Given the description of an element on the screen output the (x, y) to click on. 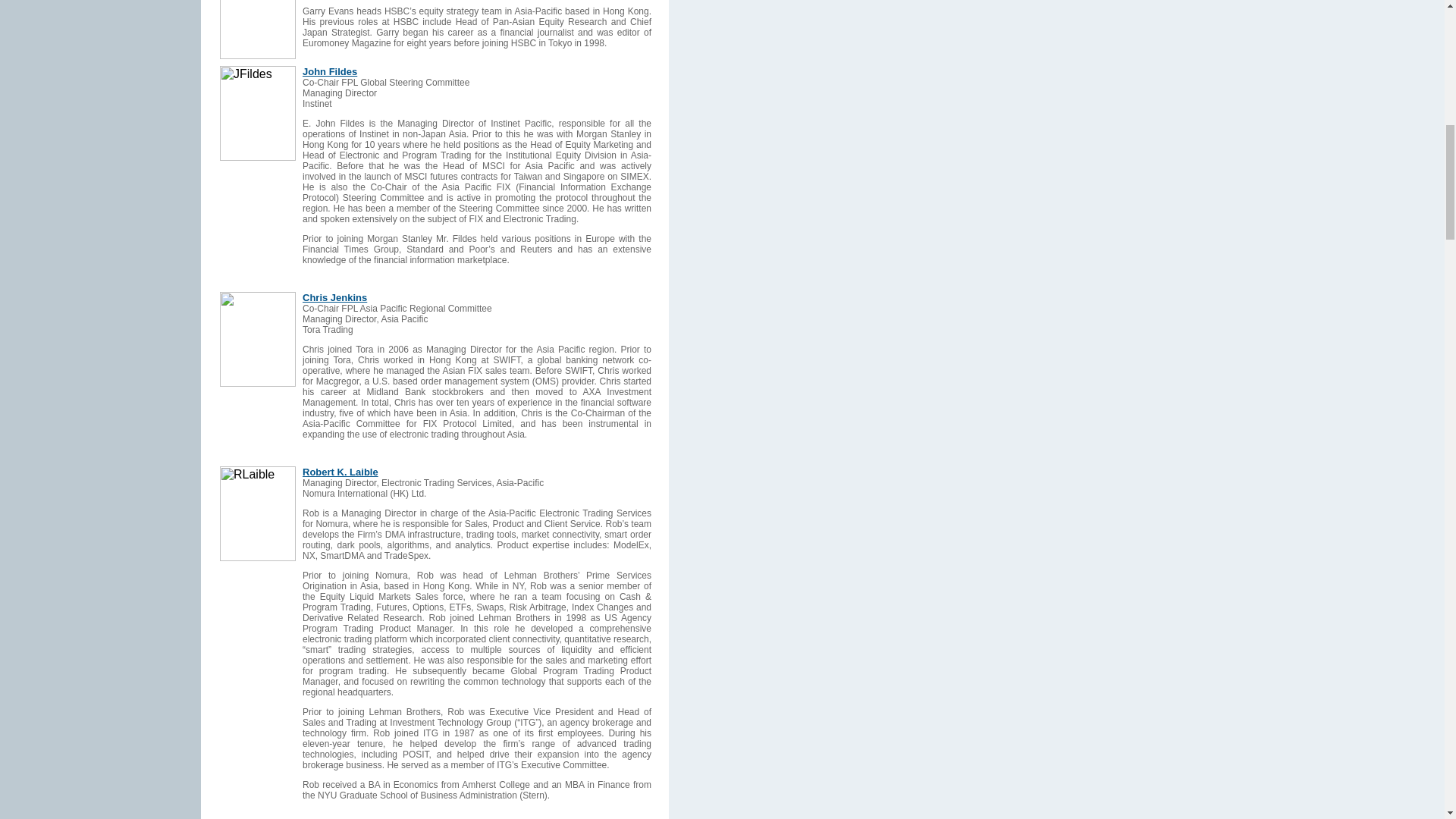
John Fildes (329, 71)
Chris Jenkins (334, 297)
Robert K. Laible (340, 471)
